Given the description of an element on the screen output the (x, y) to click on. 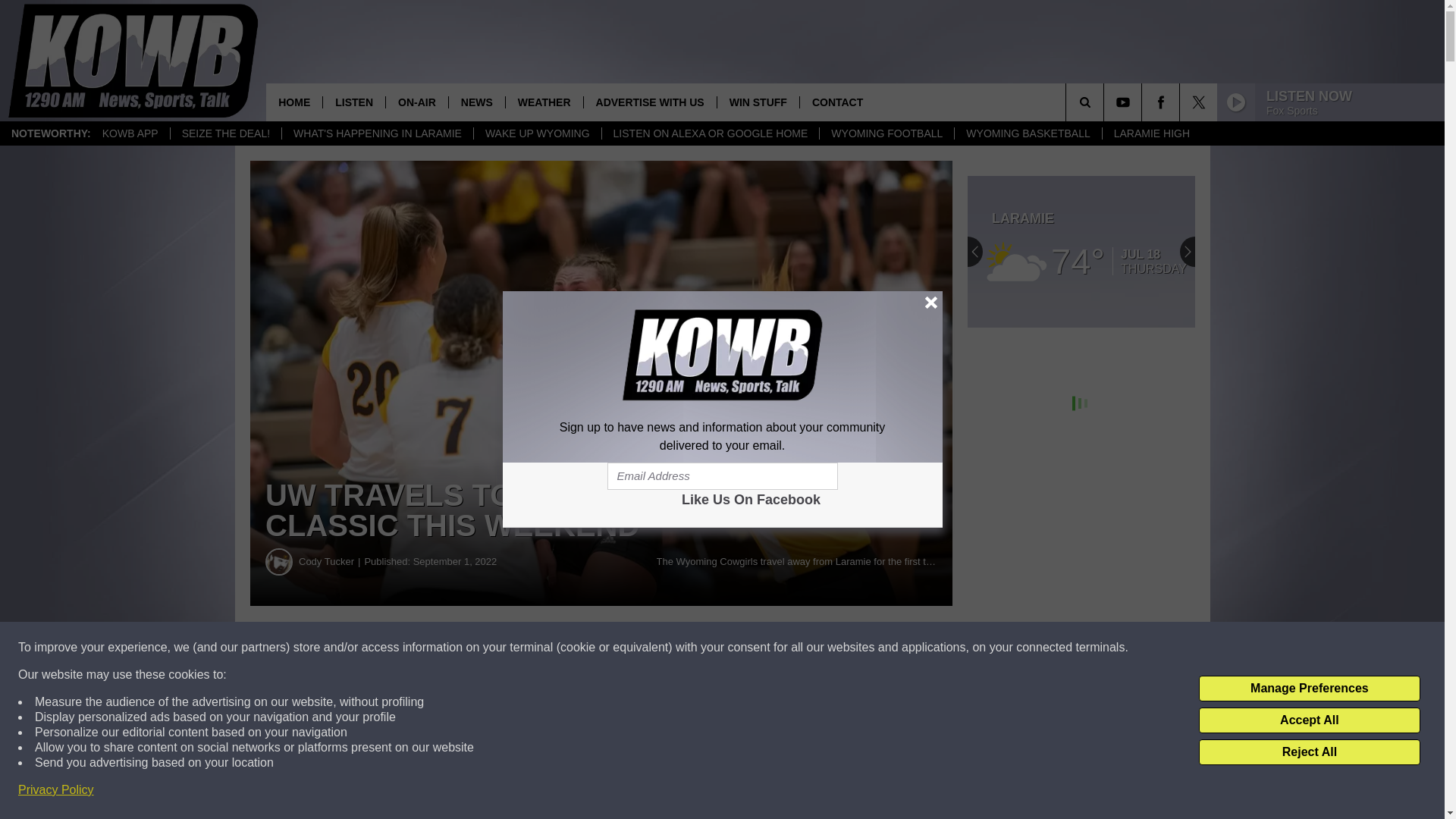
LISTEN ON ALEXA OR GOOGLE HOME (710, 133)
KOWB APP (130, 133)
Reject All (1309, 751)
Share on Twitter (741, 647)
Email Address (722, 475)
WAKE UP WYOMING (537, 133)
NEWS (476, 102)
WYOMING FOOTBALL (885, 133)
Laramie Weather (1081, 251)
WYOMING BASKETBALL (1026, 133)
WHAT'S HAPPENING IN LARAMIE (377, 133)
SEIZE THE DEAL! (225, 133)
SEARCH (1106, 102)
Manage Preferences (1309, 688)
Privacy Policy (55, 789)
